Given the description of an element on the screen output the (x, y) to click on. 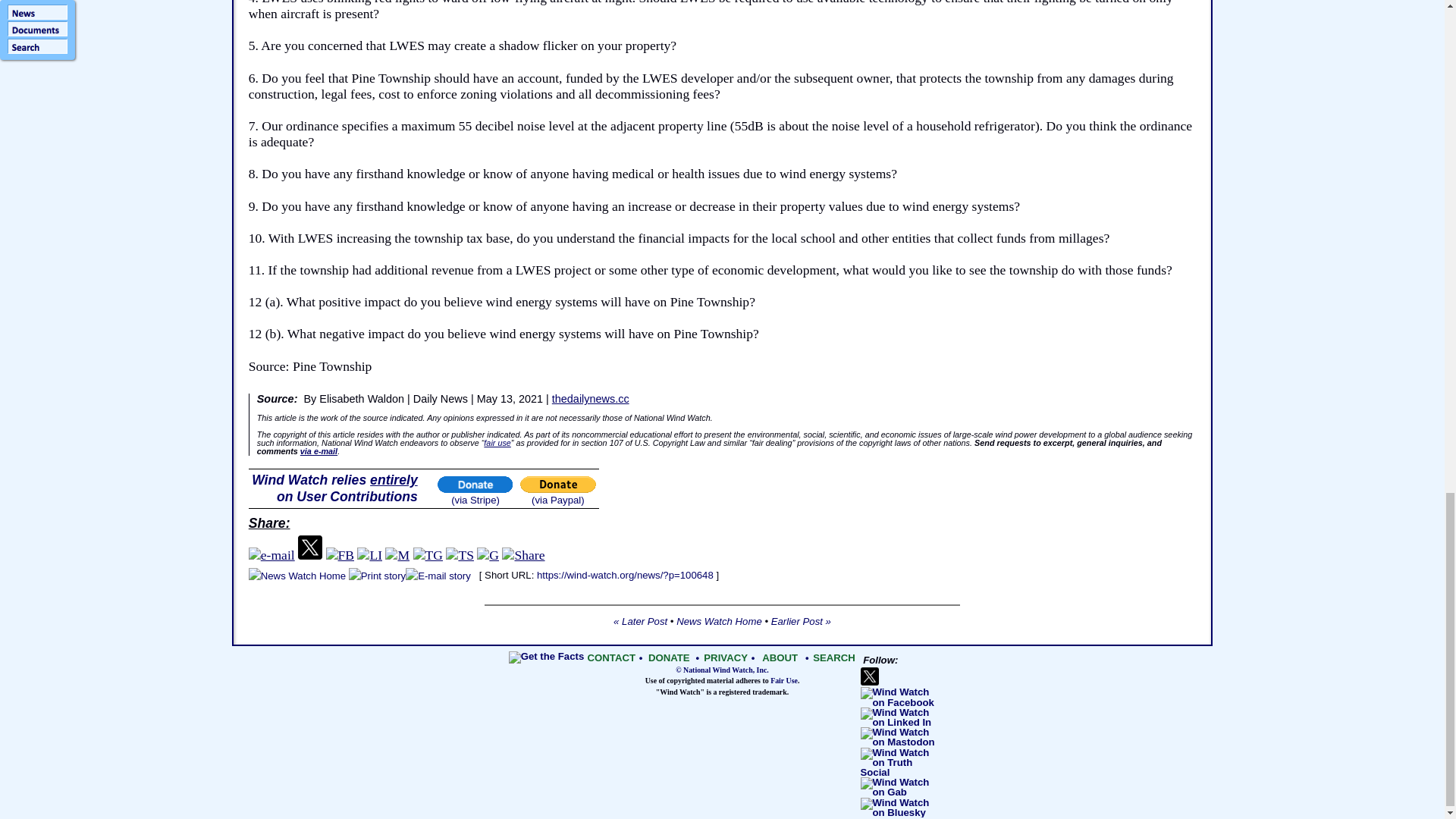
Donation Options (334, 487)
